Given the description of an element on the screen output the (x, y) to click on. 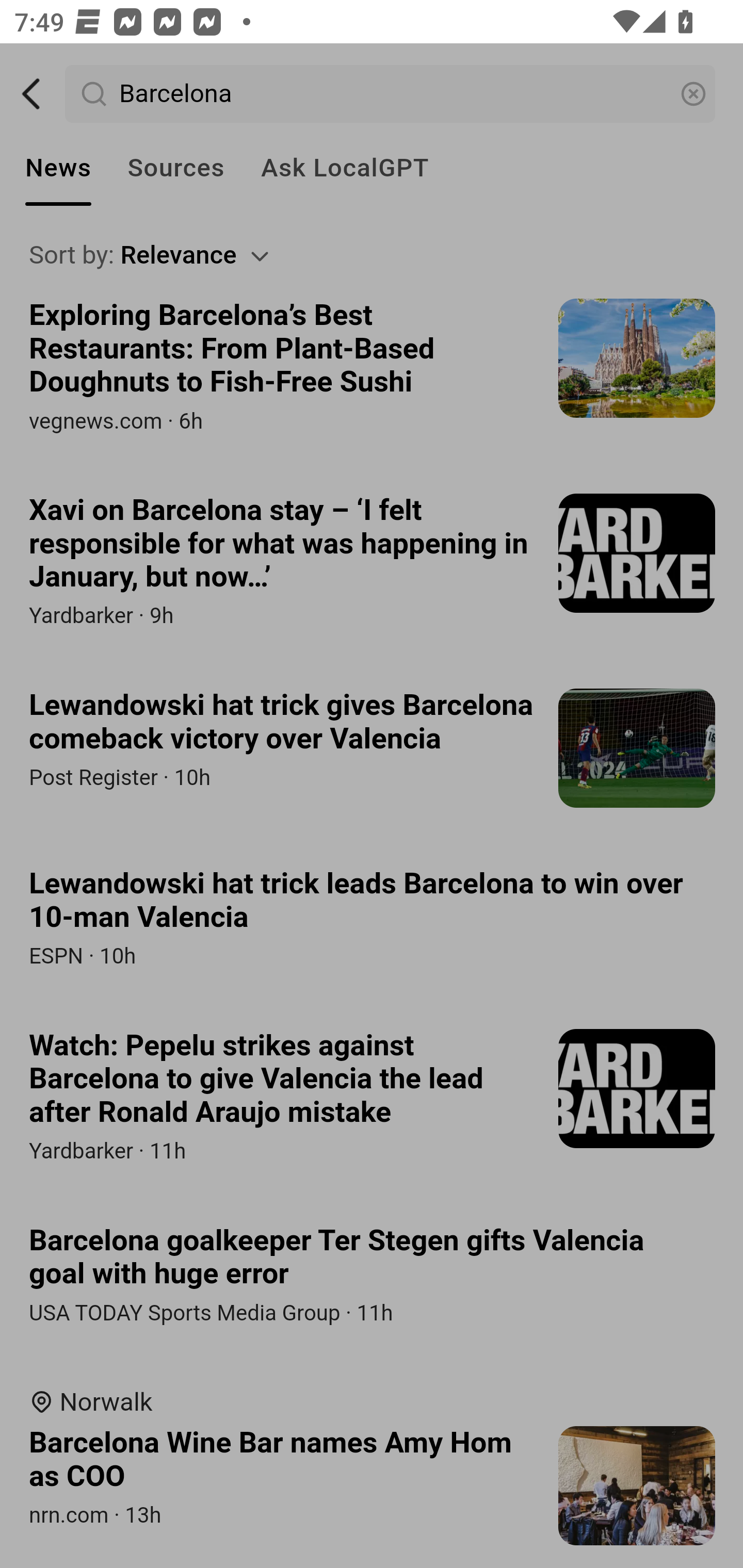
Barcelona (390, 93)
News (58, 168)
Sources (175, 168)
Ask LocalGPT (344, 168)
Sort by:  Relevance (372, 254)
